Given the description of an element on the screen output the (x, y) to click on. 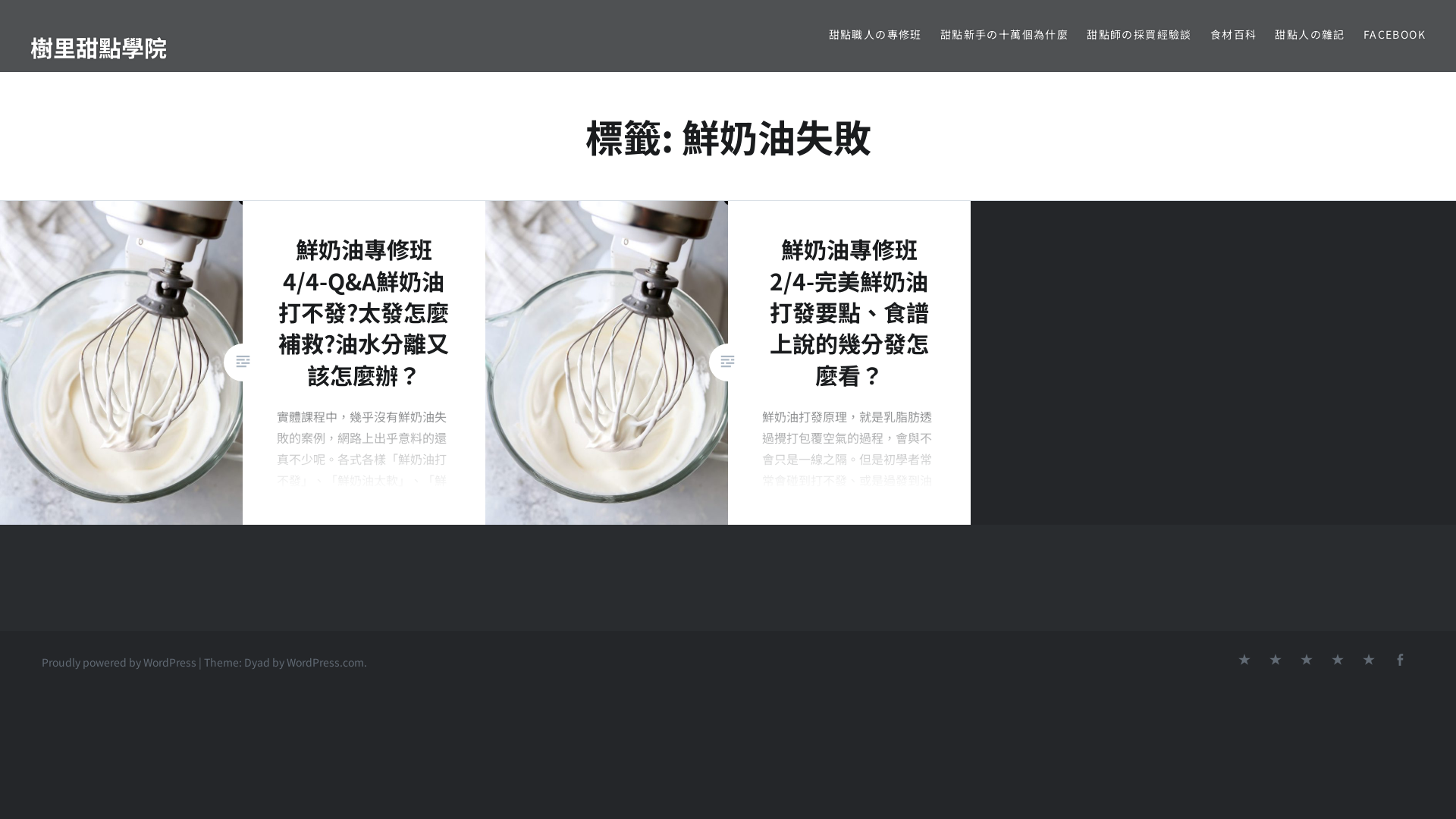
FACEBOOK Element type: text (1394, 34)
Facebook Element type: text (1399, 660)
Proudly powered by WordPress Element type: text (118, 661)
WordPress.com Element type: text (325, 661)
